Given the description of an element on the screen output the (x, y) to click on. 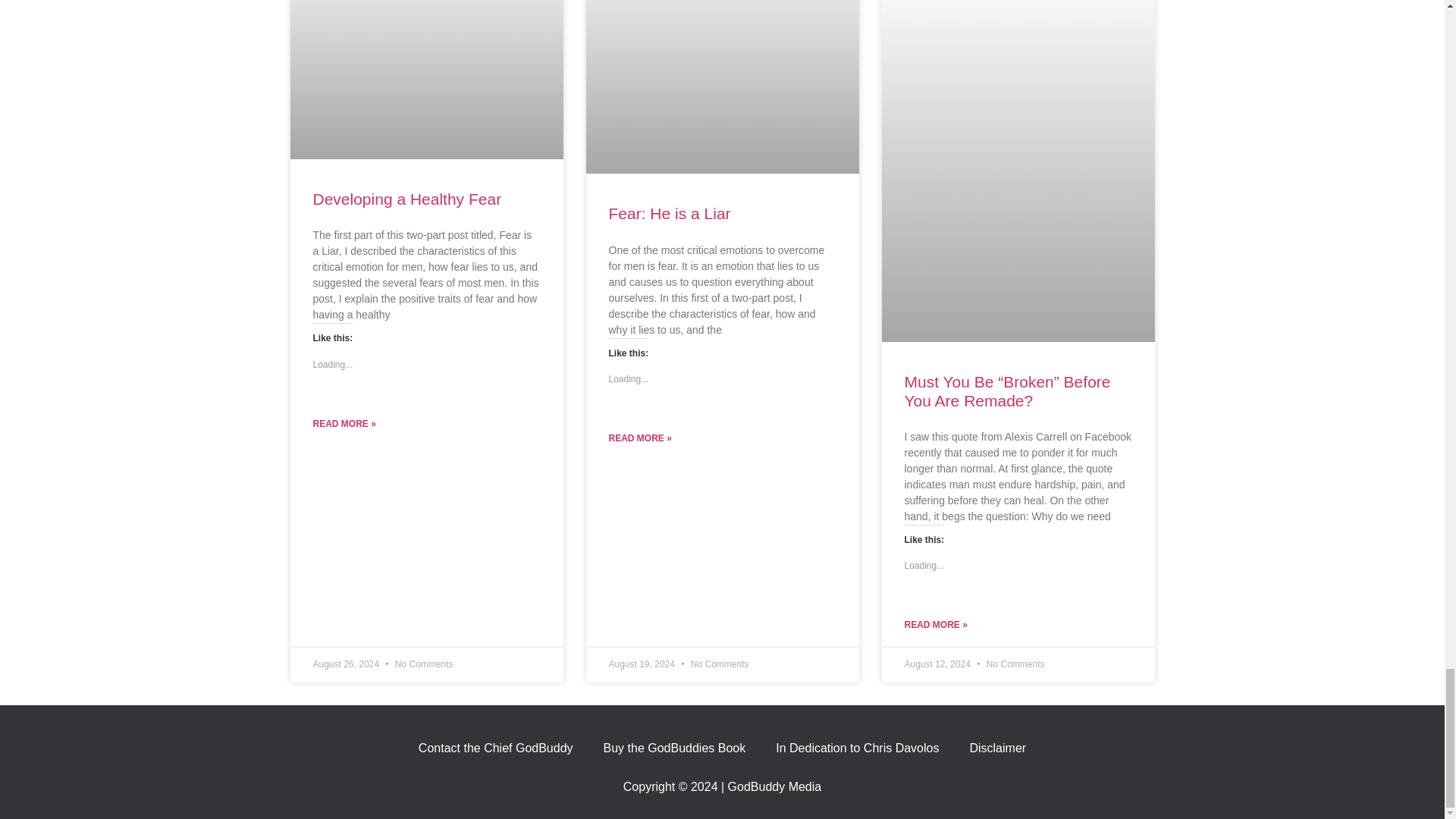
In Dedication to Chris Davolos (856, 748)
Contact the Chief GodBuddy (495, 748)
Developing a Healthy Fear (406, 199)
Fear: He is a Liar (669, 212)
Disclaimer (997, 748)
Buy the GodBuddies Book (674, 748)
